Given the description of an element on the screen output the (x, y) to click on. 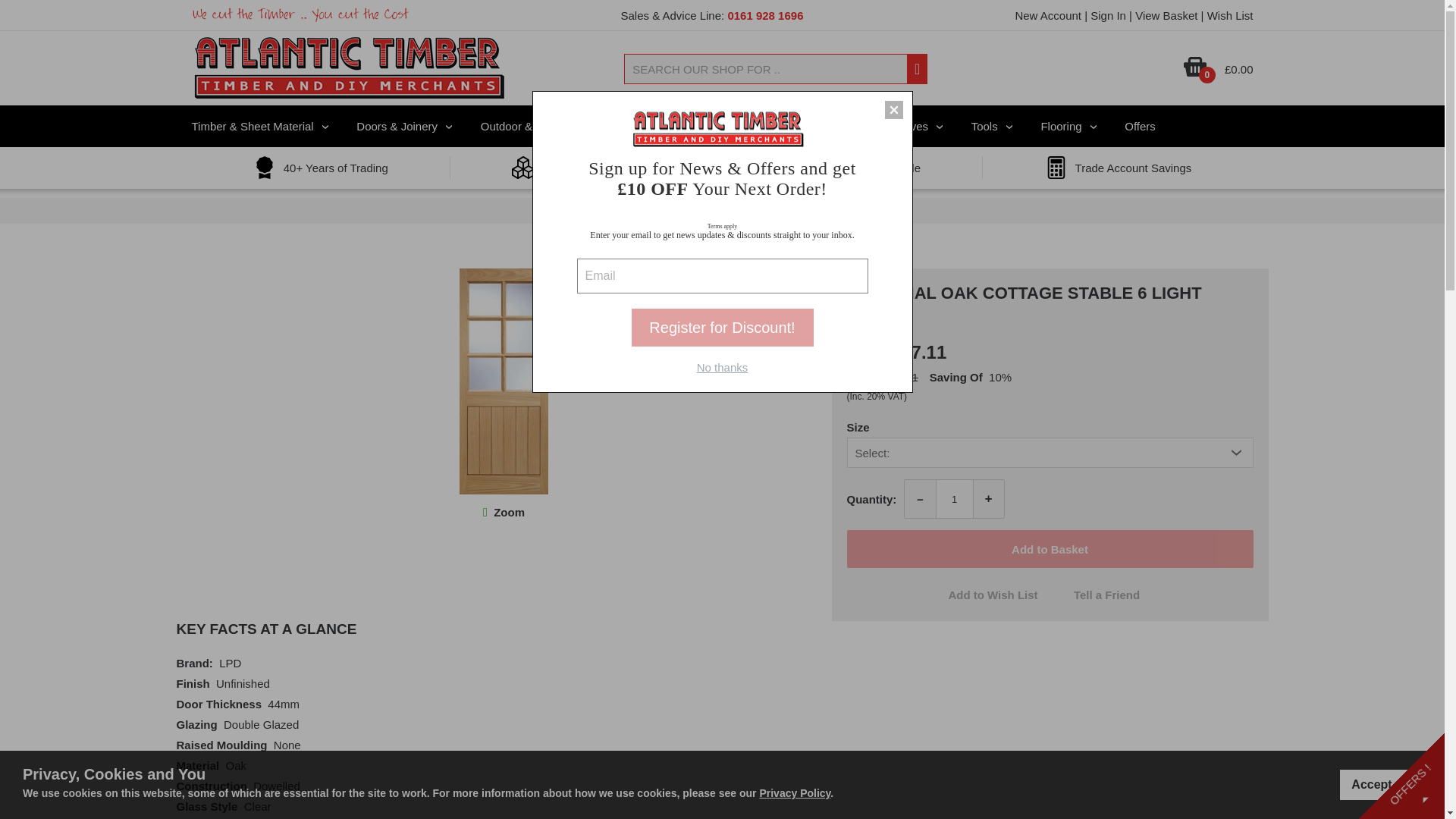
Close (892, 109)
1 (955, 498)
Add to Wish List (992, 594)
Zoom (508, 512)
External Oak Cottage Stable 6 Light Door (508, 512)
Special Offers (1140, 125)
Add to Basket (1048, 548)
Tell a Friend (1106, 594)
Go (917, 69)
